Given the description of an element on the screen output the (x, y) to click on. 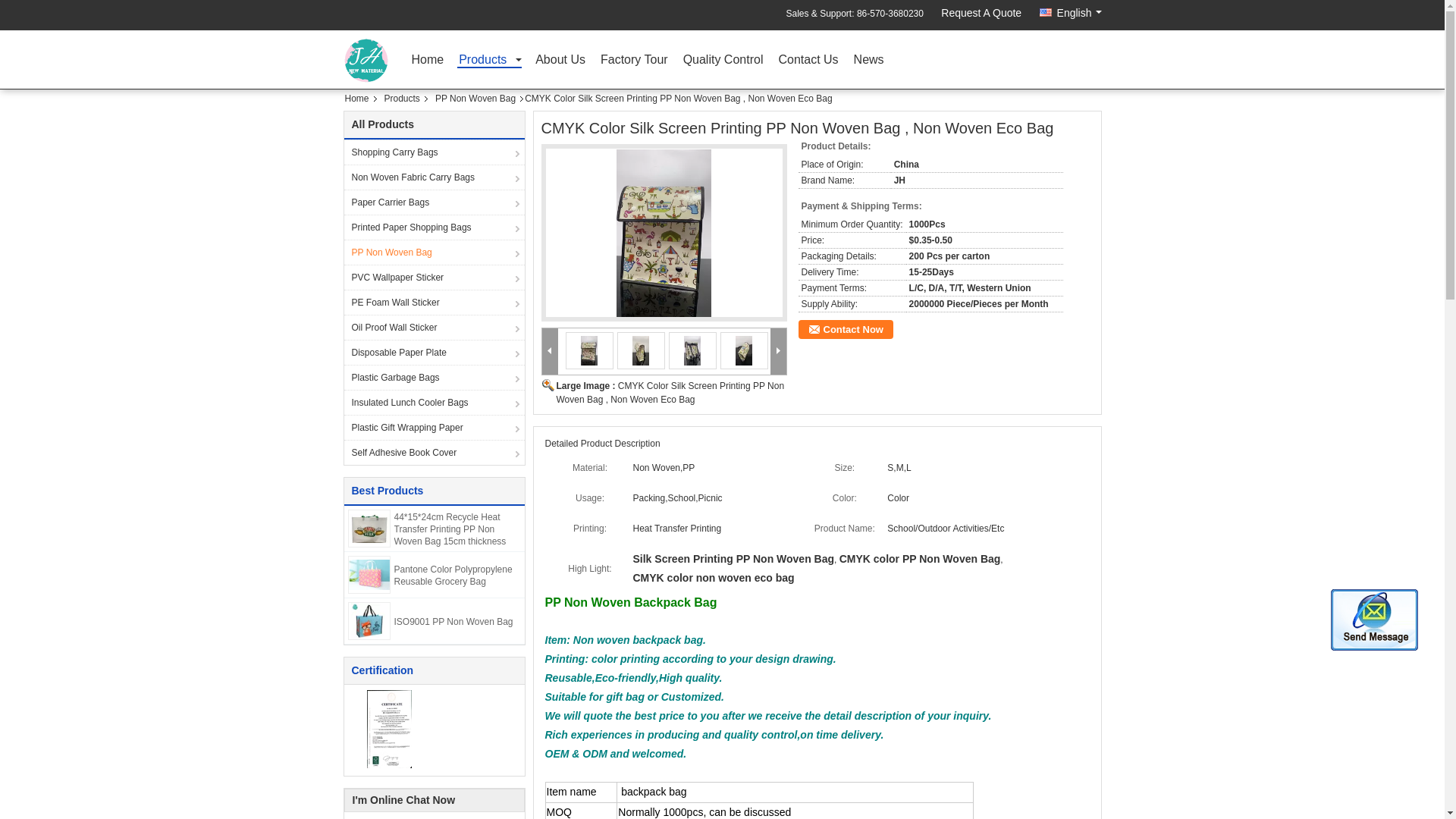
News (868, 63)
About Us (560, 63)
QuZhou JH New Material Co., Ltd (427, 63)
Products (403, 98)
Contact Us (808, 63)
Home (360, 98)
Products (489, 60)
Factory Tour (633, 63)
Quality Control (723, 63)
Home (427, 63)
QuZhou JH New Material Co., Ltd (981, 15)
QuZhou JH New Material Co., Ltd (489, 60)
English (1069, 11)
Request A Quote (981, 15)
